Given the description of an element on the screen output the (x, y) to click on. 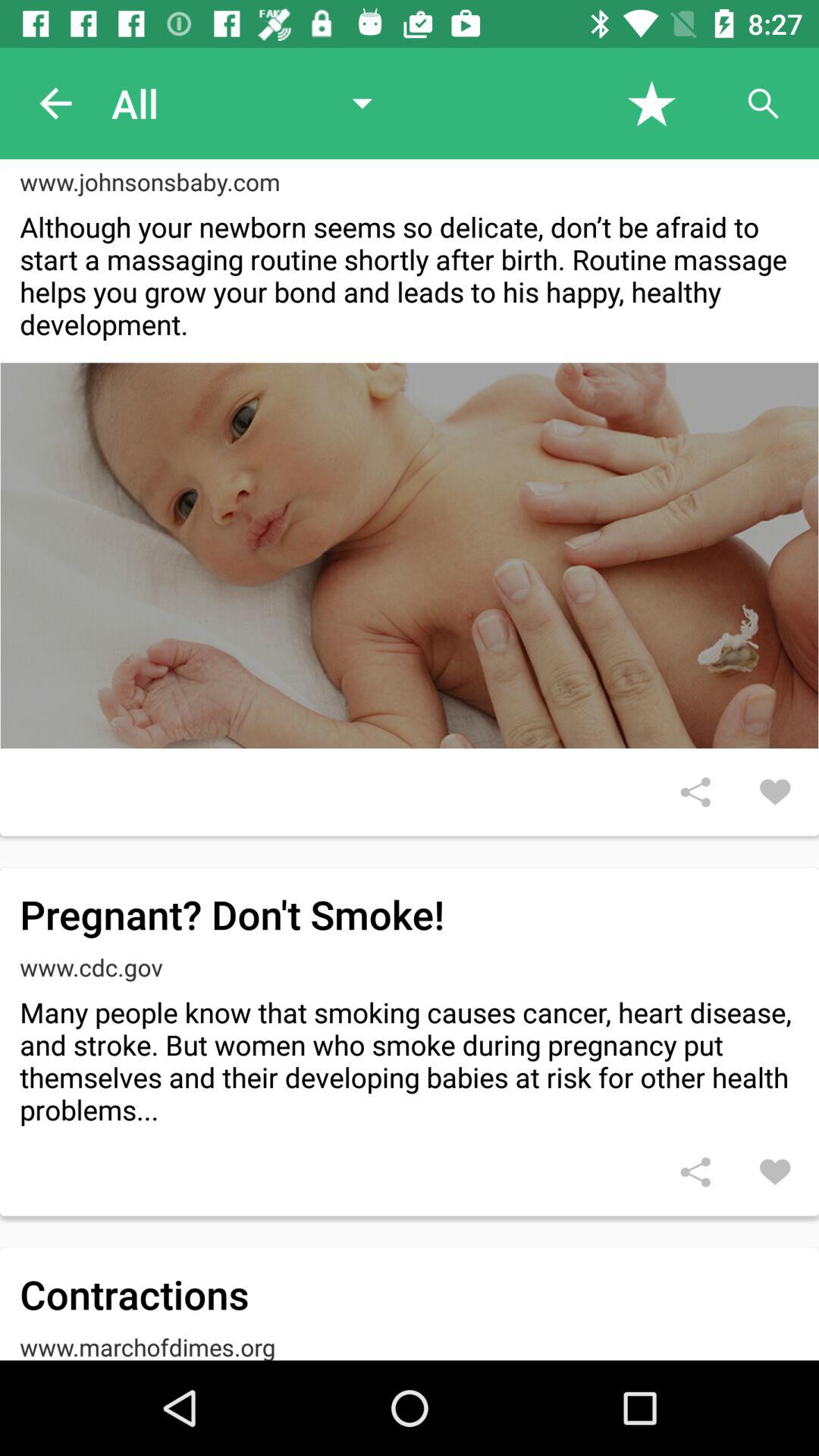
favorite selection (651, 103)
